Given the description of an element on the screen output the (x, y) to click on. 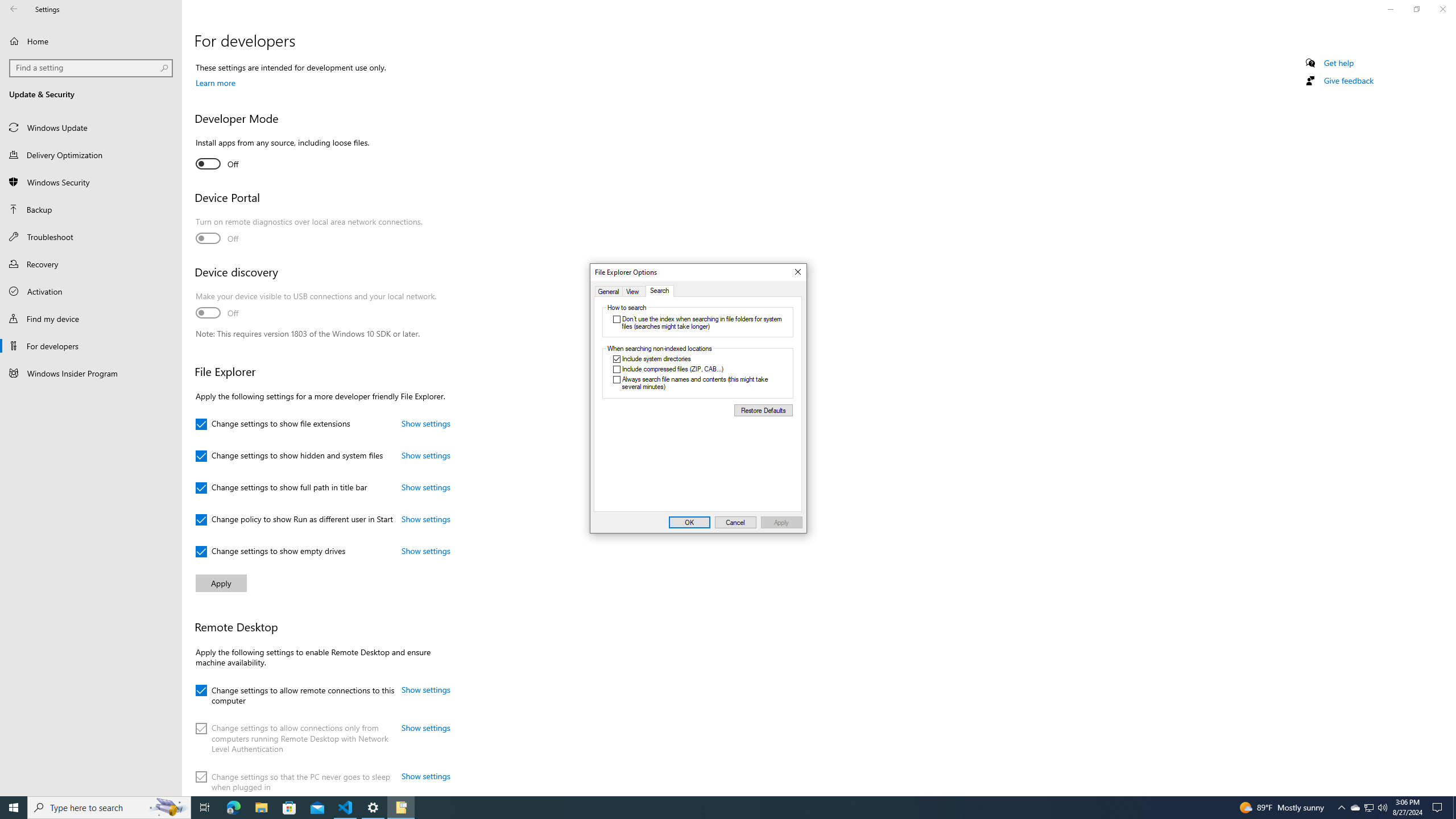
Cancel (735, 522)
Visual Studio Code - 1 running window (345, 807)
